Given the description of an element on the screen output the (x, y) to click on. 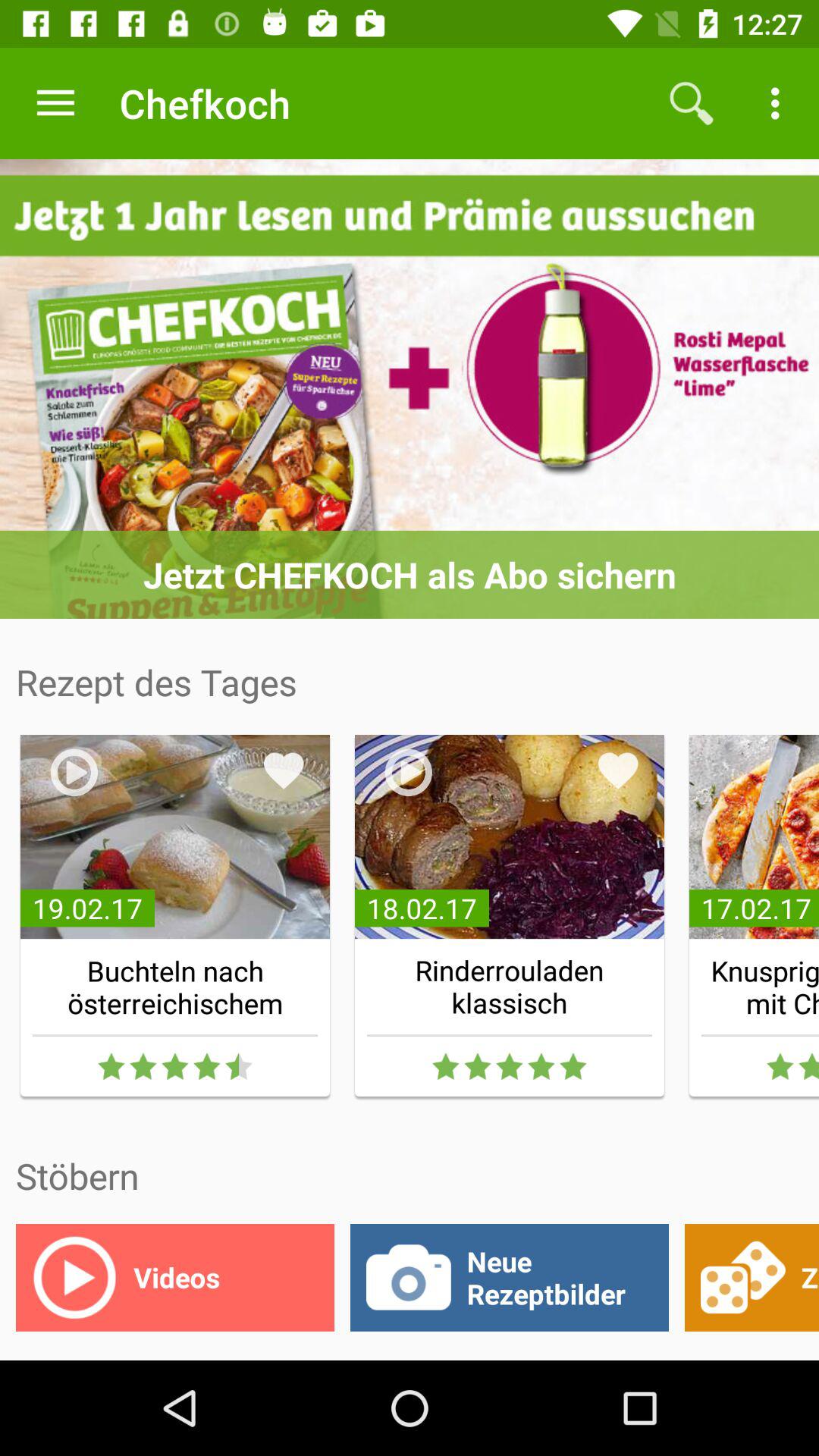
click on the first play button of the page (74, 772)
click on the second image under rezept des tages (509, 837)
select the love symbol (618, 770)
select the button next to videos (509, 1278)
